Given the description of an element on the screen output the (x, y) to click on. 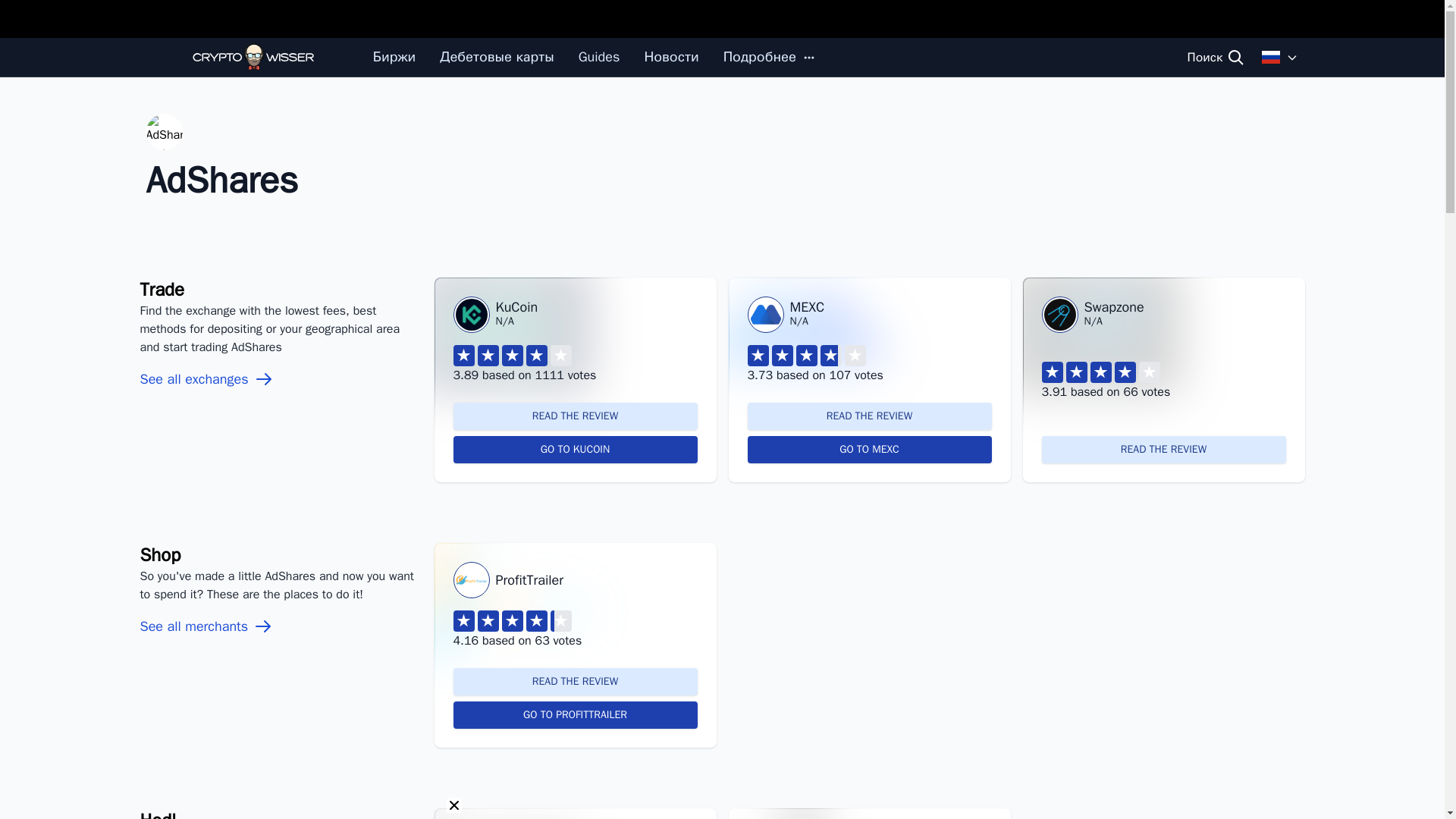
Choose Language (1279, 56)
Guides (599, 56)
Cryptowisser (253, 57)
